Given the description of an element on the screen output the (x, y) to click on. 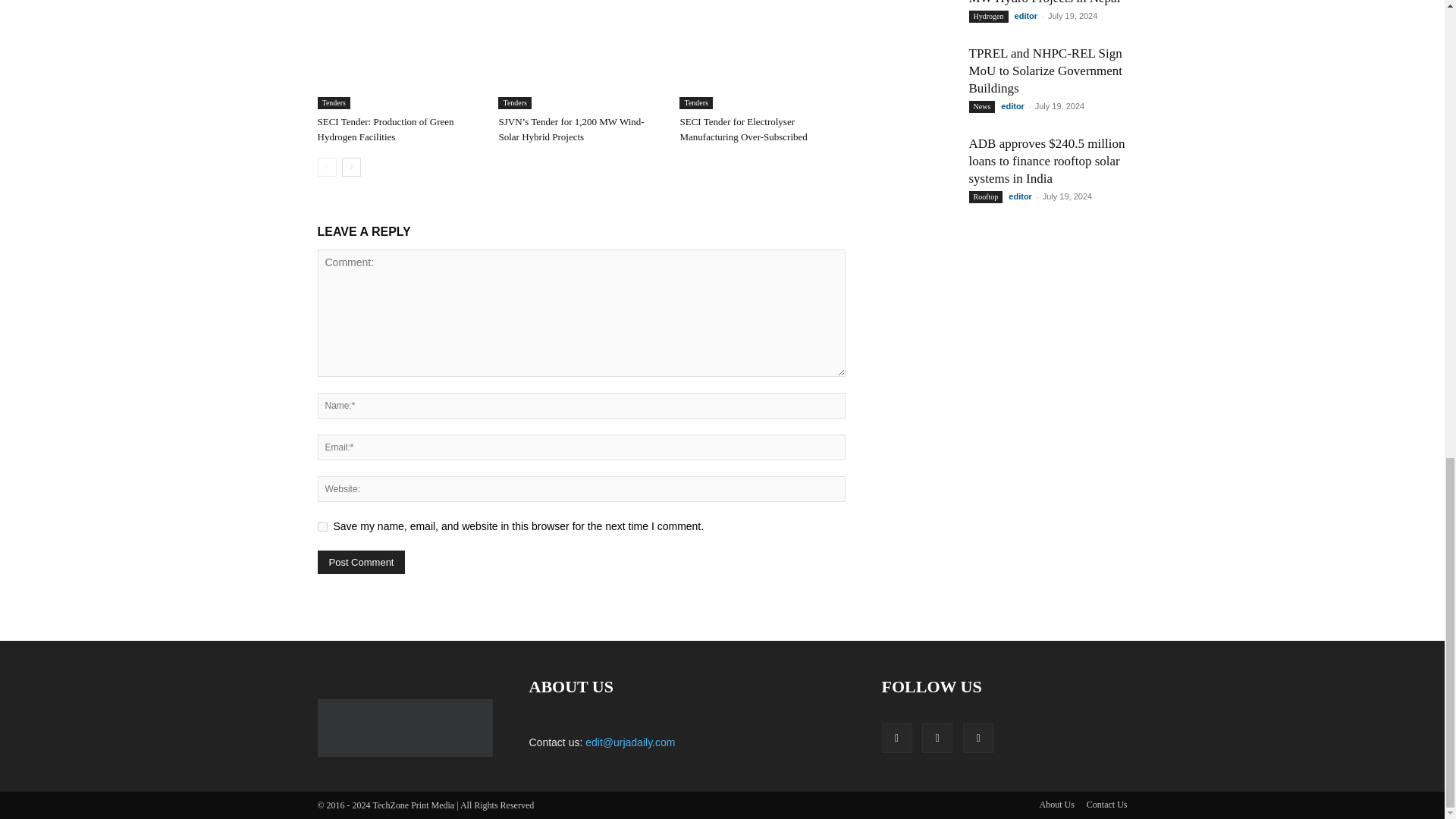
Post Comment (360, 562)
yes (321, 526)
